Given the description of an element on the screen output the (x, y) to click on. 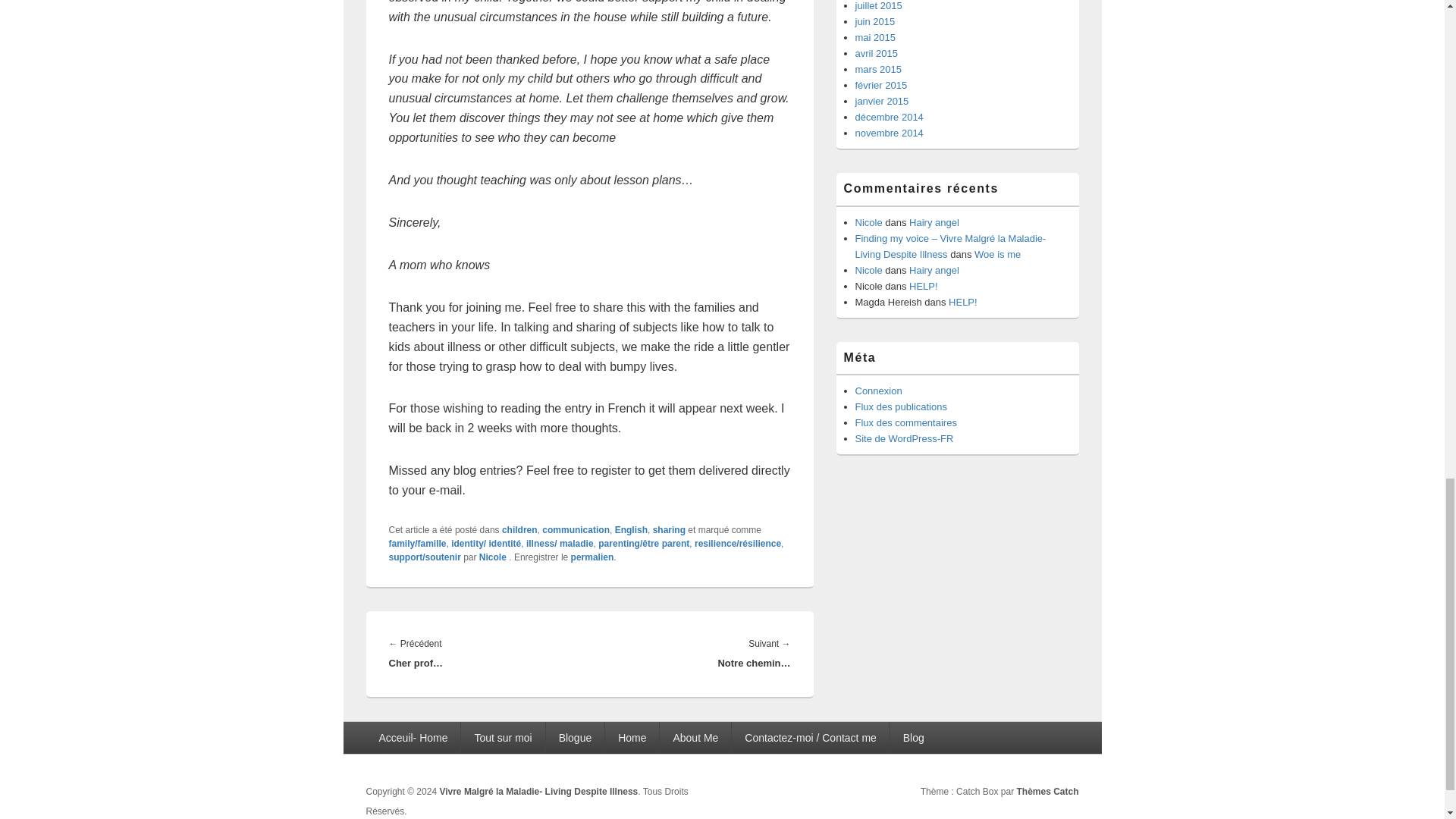
Permalink to Dear teacher (592, 557)
